Given the description of an element on the screen output the (x, y) to click on. 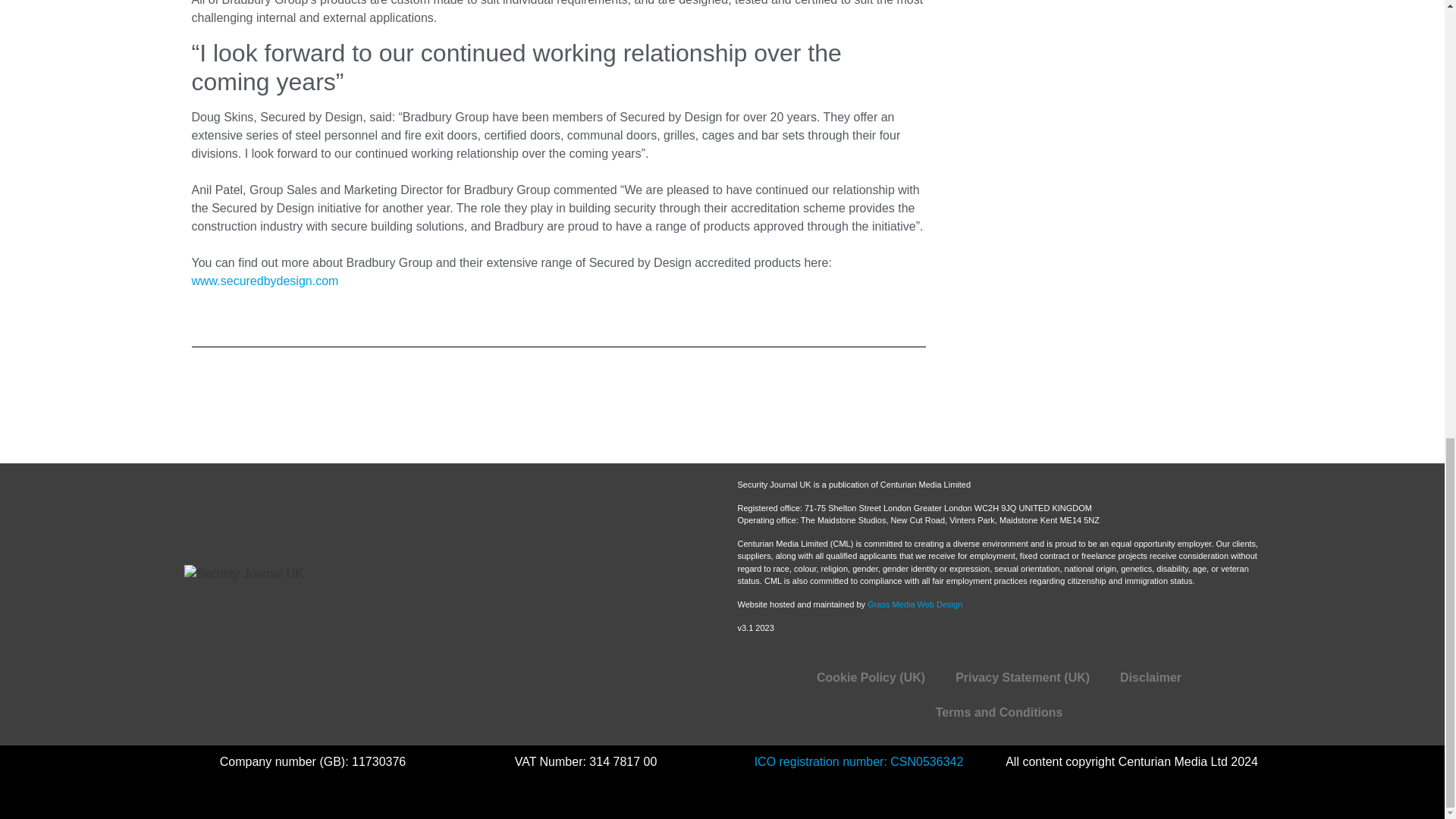
Security Journal UK (430, 603)
